Given the description of an element on the screen output the (x, y) to click on. 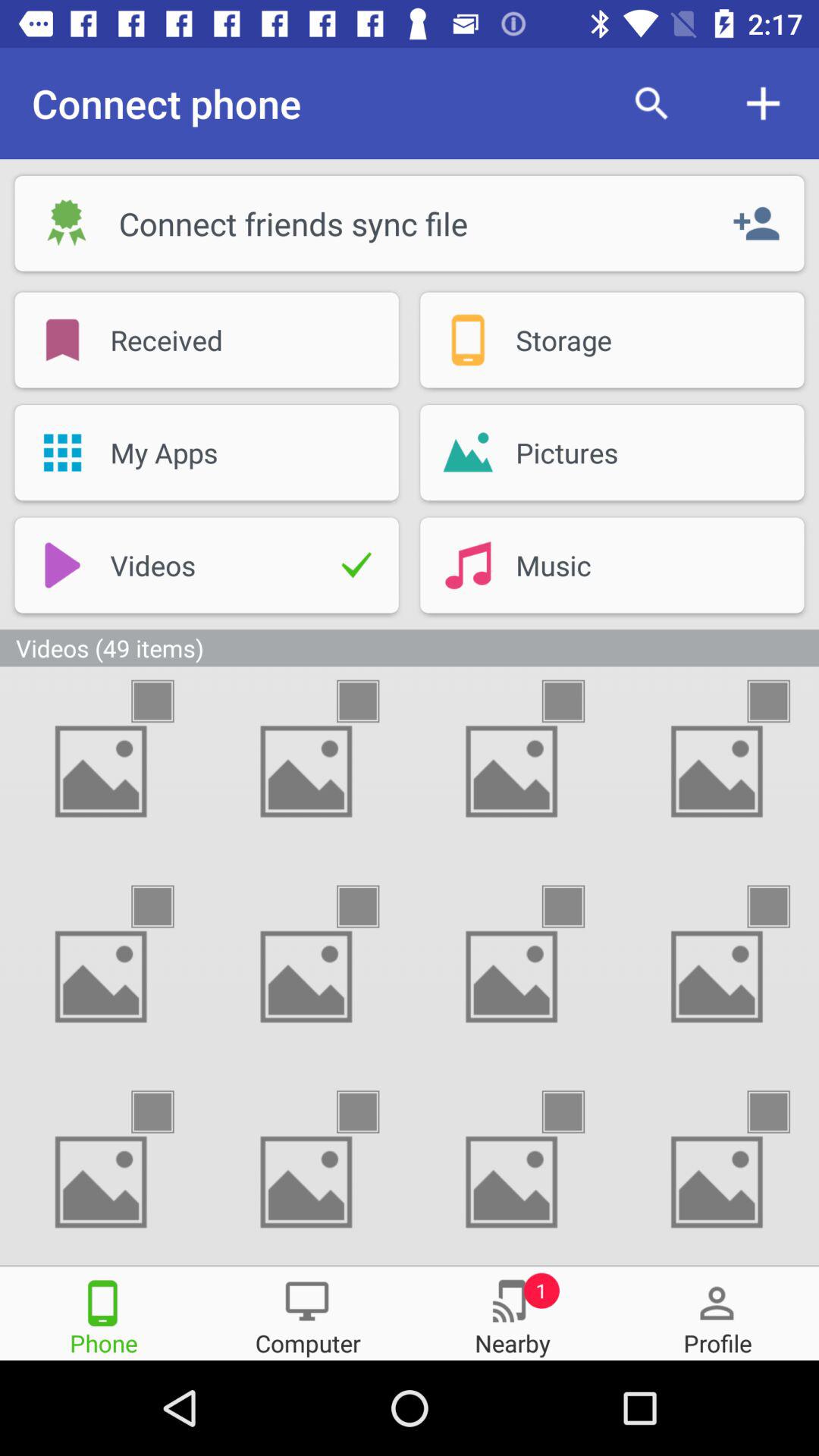
click to select video (371, 1111)
